Given the description of an element on the screen output the (x, y) to click on. 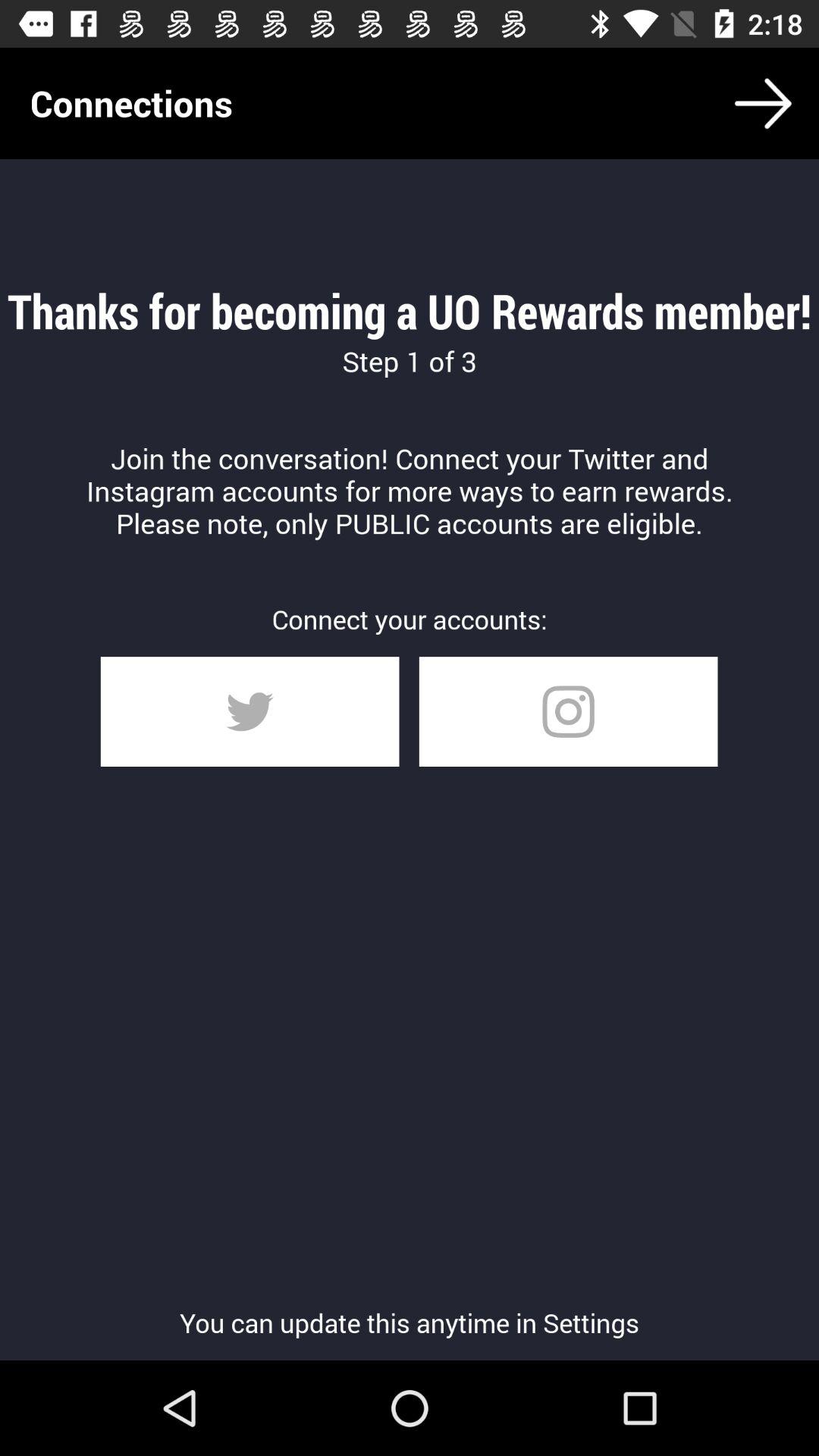
click the item next to the connections (763, 103)
